Given the description of an element on the screen output the (x, y) to click on. 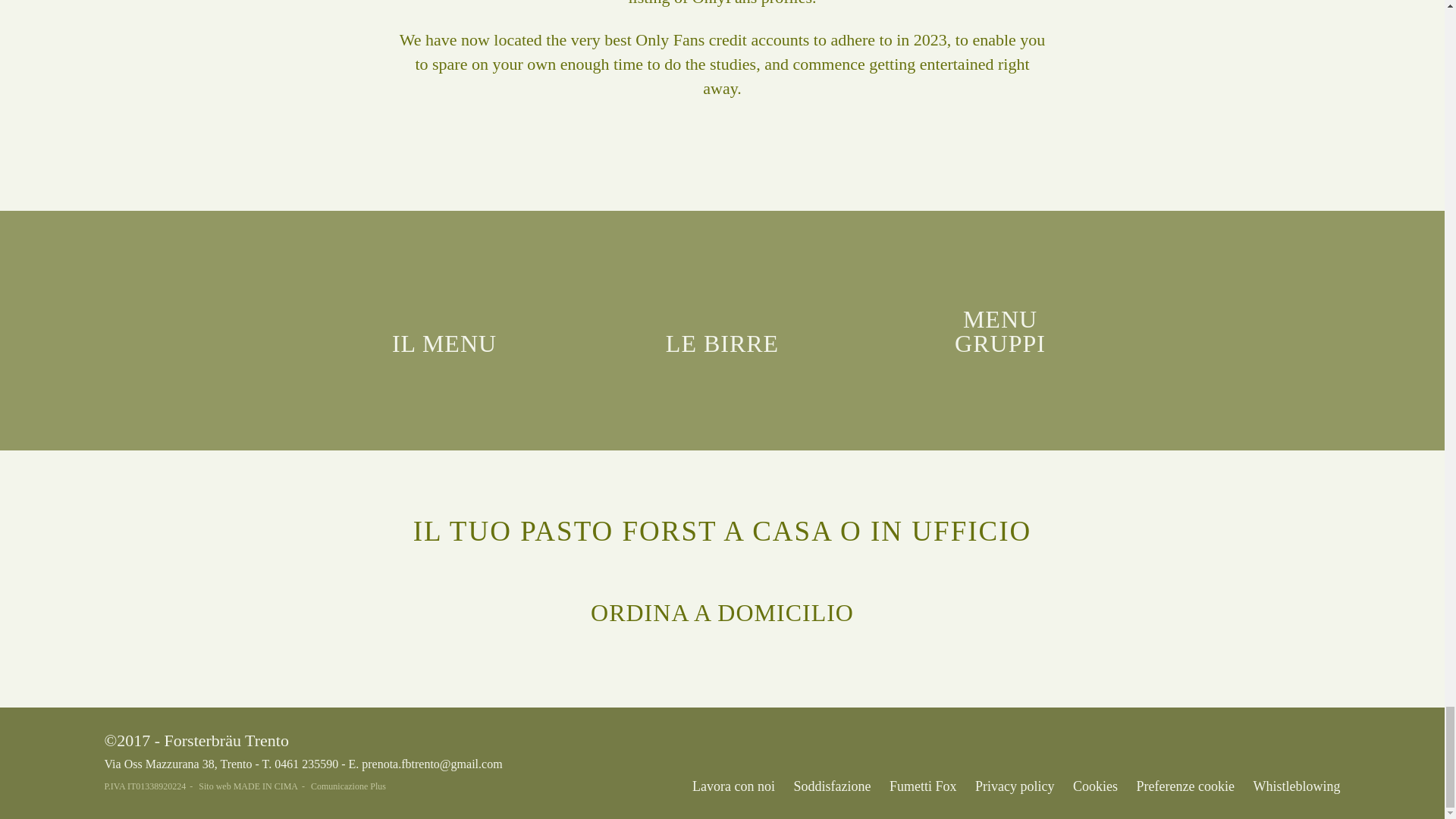
Privacy policy (1014, 786)
Instagram (1276, 744)
LE BIRRE (722, 335)
Soddisfazione (831, 786)
Fumetti Fox (922, 786)
Sito web MADE IN CIMA (253, 786)
Lavora con noi (733, 786)
ORDINA A DOMICILIO (722, 604)
MENU GRUPPI (999, 323)
Facebook (1230, 744)
